Given the description of an element on the screen output the (x, y) to click on. 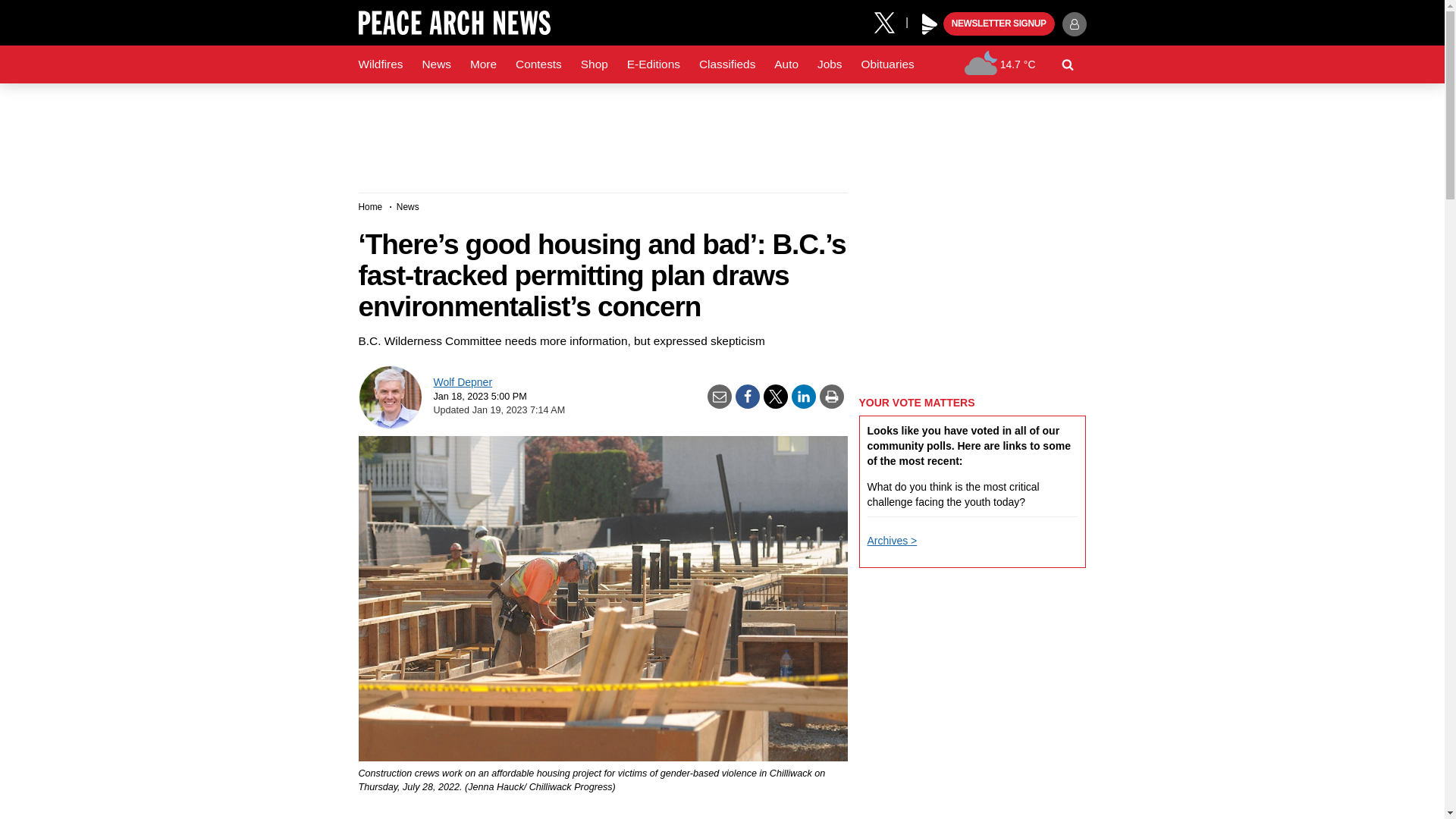
X (889, 21)
Play (929, 24)
NEWSLETTER SIGNUP (998, 24)
News (435, 64)
Wildfires (380, 64)
Black Press Media (929, 24)
